Given the description of an element on the screen output the (x, y) to click on. 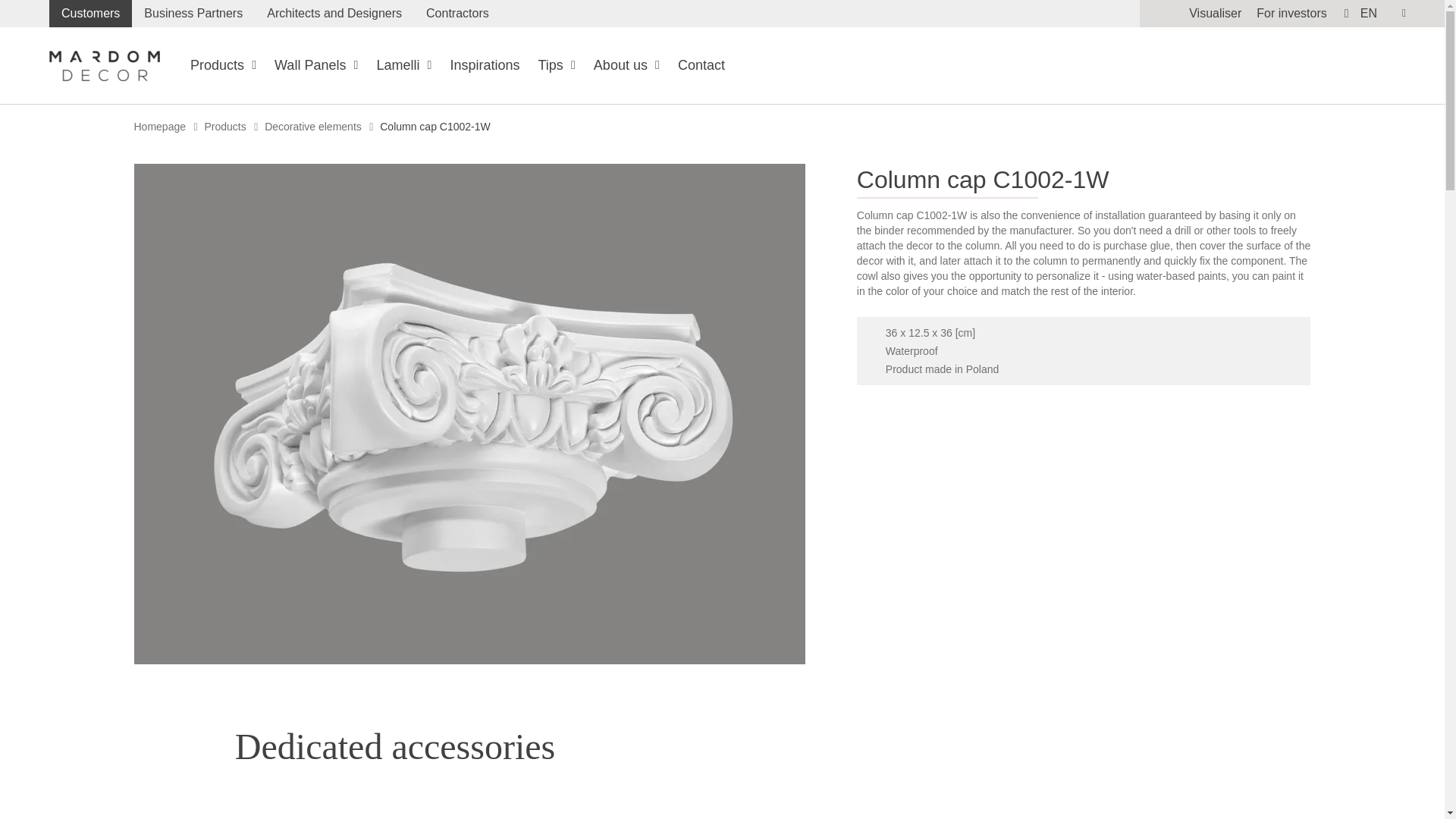
For investors (1291, 12)
Products (223, 64)
Business Partners (193, 13)
Architects and Designers (333, 13)
Contractors (456, 13)
Customers (90, 13)
Visualiser (1215, 12)
